Given the description of an element on the screen output the (x, y) to click on. 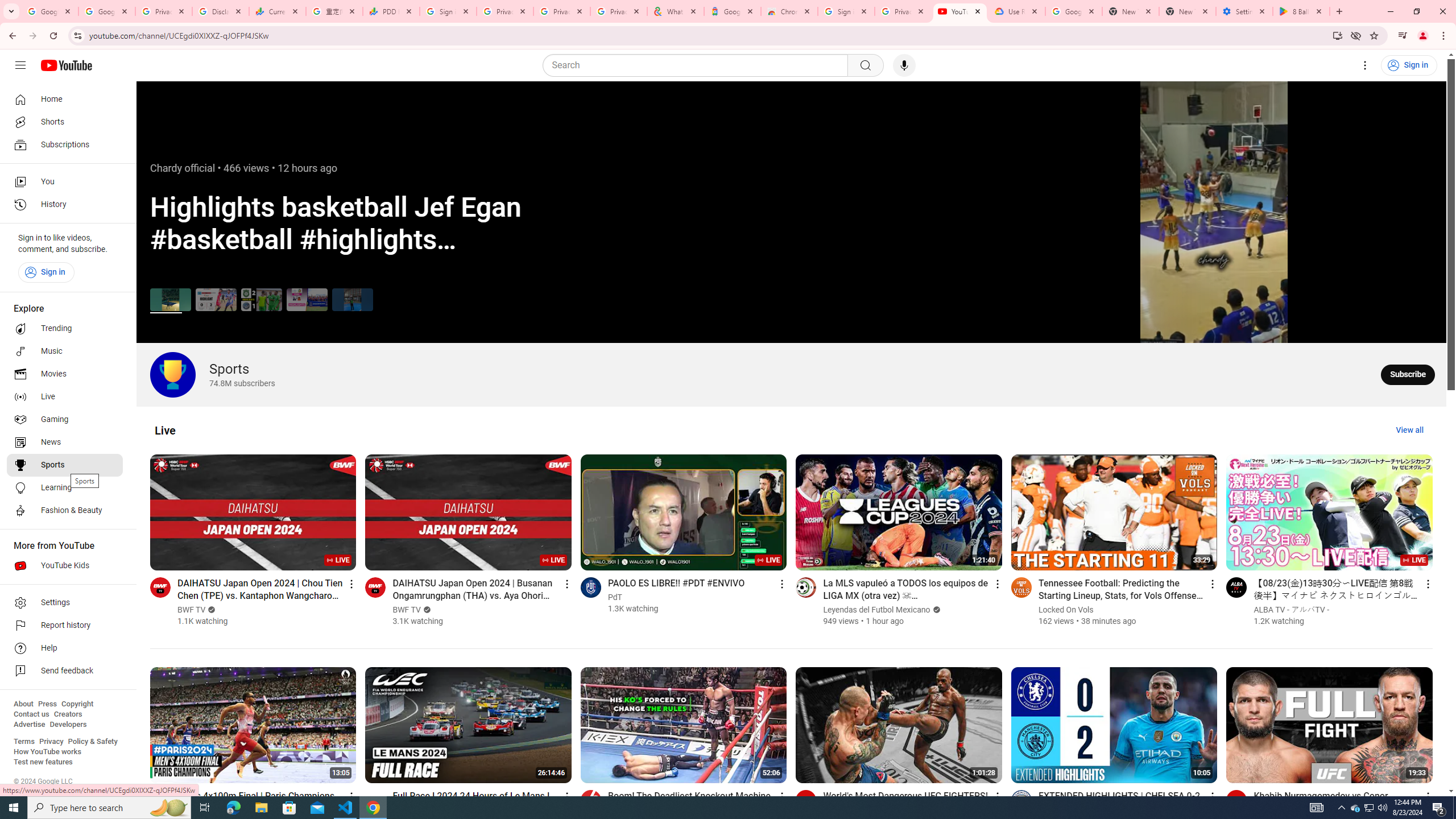
Action menu (1427, 796)
Locked On Vols (1066, 609)
Sign in - Google Accounts (447, 11)
Live (165, 430)
Leyendas del Futbol Mexicano (876, 609)
YouTube Kids (64, 565)
Policy & Safety (91, 741)
